Given the description of an element on the screen output the (x, y) to click on. 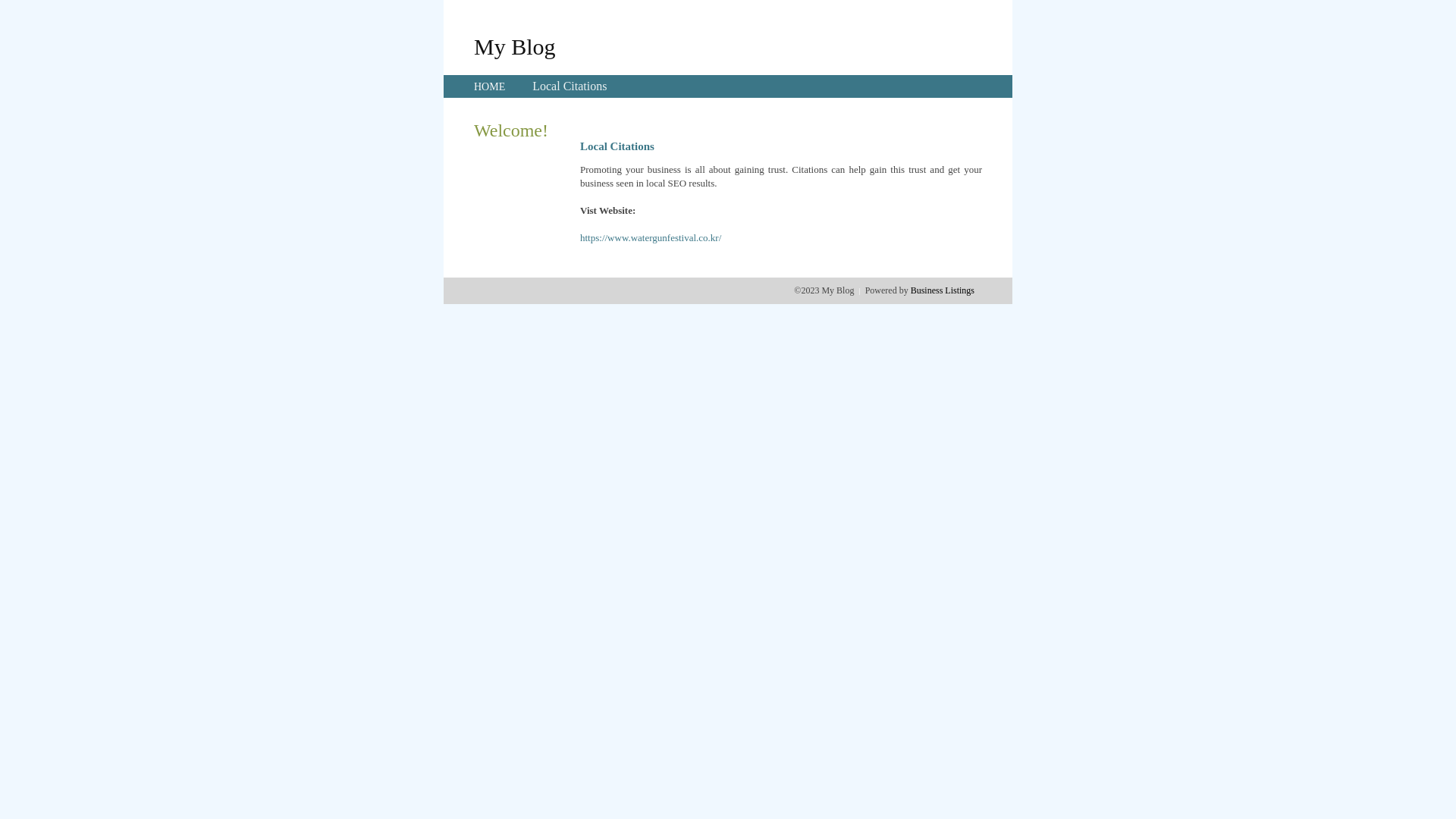
https://www.watergunfestival.co.kr/ Element type: text (650, 237)
Local Citations Element type: text (569, 85)
Business Listings Element type: text (942, 290)
My Blog Element type: text (514, 46)
HOME Element type: text (489, 86)
